Given the description of an element on the screen output the (x, y) to click on. 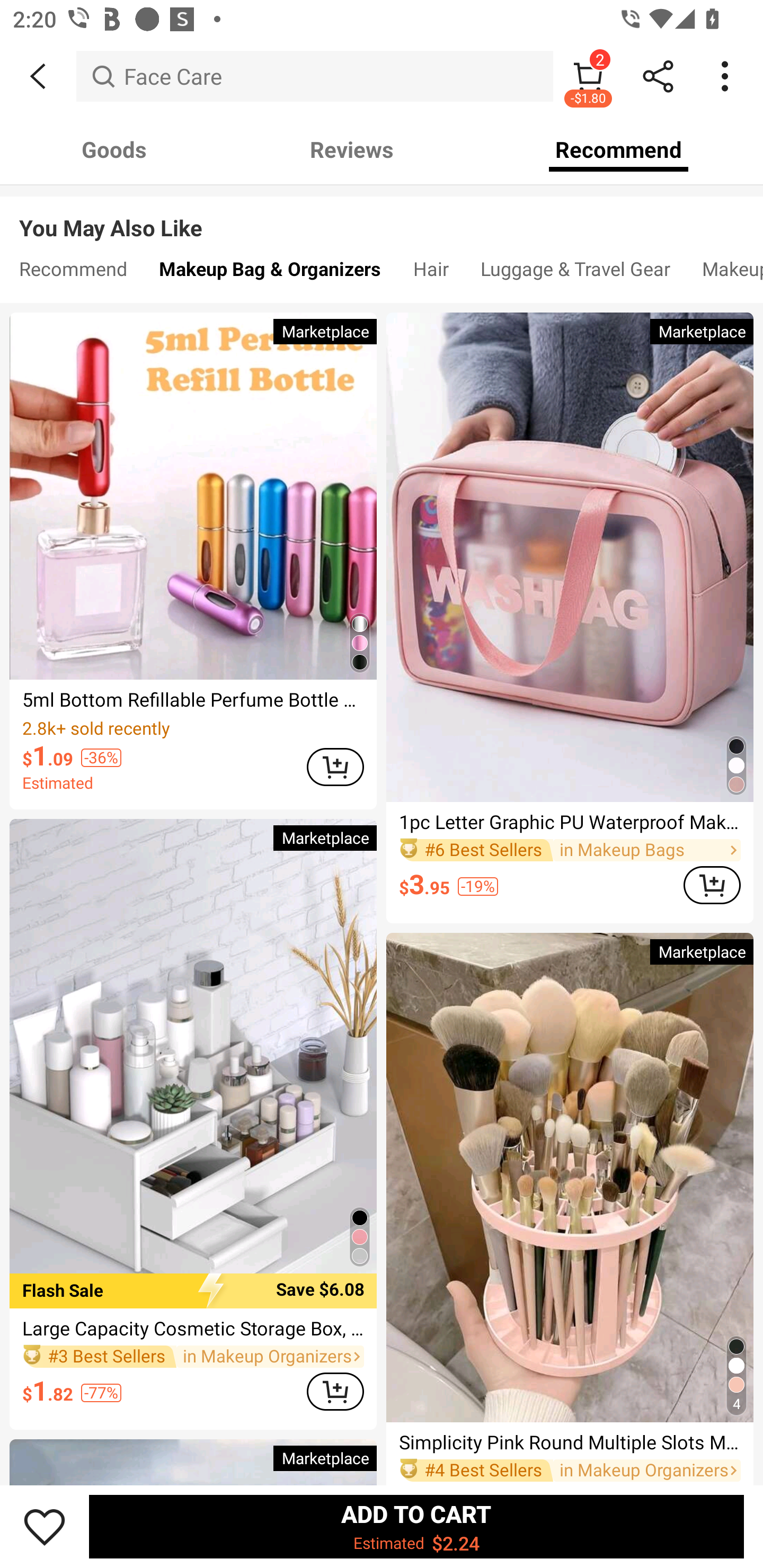
BACK (38, 75)
2 -$1.80 (588, 75)
Face Care (314, 75)
Goods (114, 149)
Reviews (351, 149)
Recommend (618, 149)
You May Also Like (381, 214)
Recommend (73, 273)
Makeup Bag & Organizers (270, 273)
Hair (430, 273)
Luggage & Travel Gear (574, 273)
ADD TO CART (334, 766)
#6 Best Sellers in Makeup Bags (569, 849)
ADD TO CART (711, 884)
#3 Best Sellers in Makeup Organizers (192, 1355)
ADD TO CART (334, 1391)
#4 Best Sellers in Makeup Organizers (569, 1470)
ADD TO CART Estimated   $2.24 (416, 1526)
Save (44, 1526)
